Given the description of an element on the screen output the (x, y) to click on. 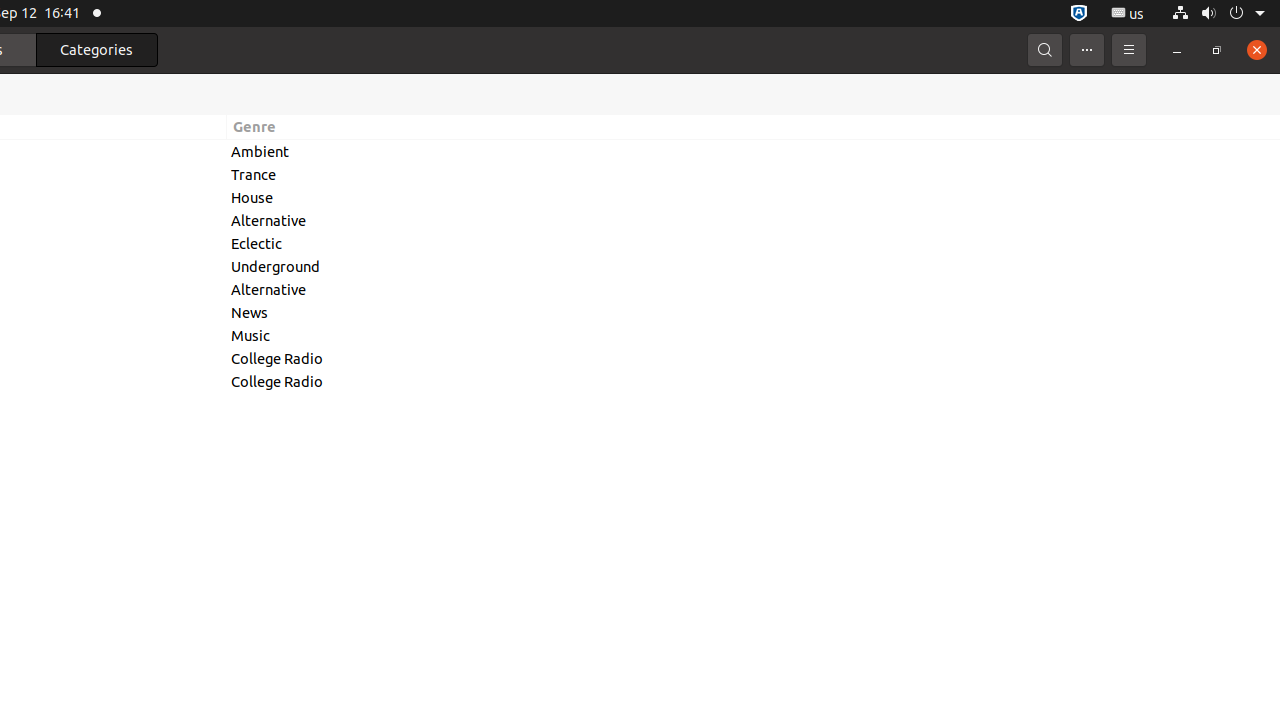
Ambient Element type: table-cell (753, 151)
College Radio Element type: table-cell (753, 358)
Restore Element type: push-button (1217, 50)
